Given the description of an element on the screen output the (x, y) to click on. 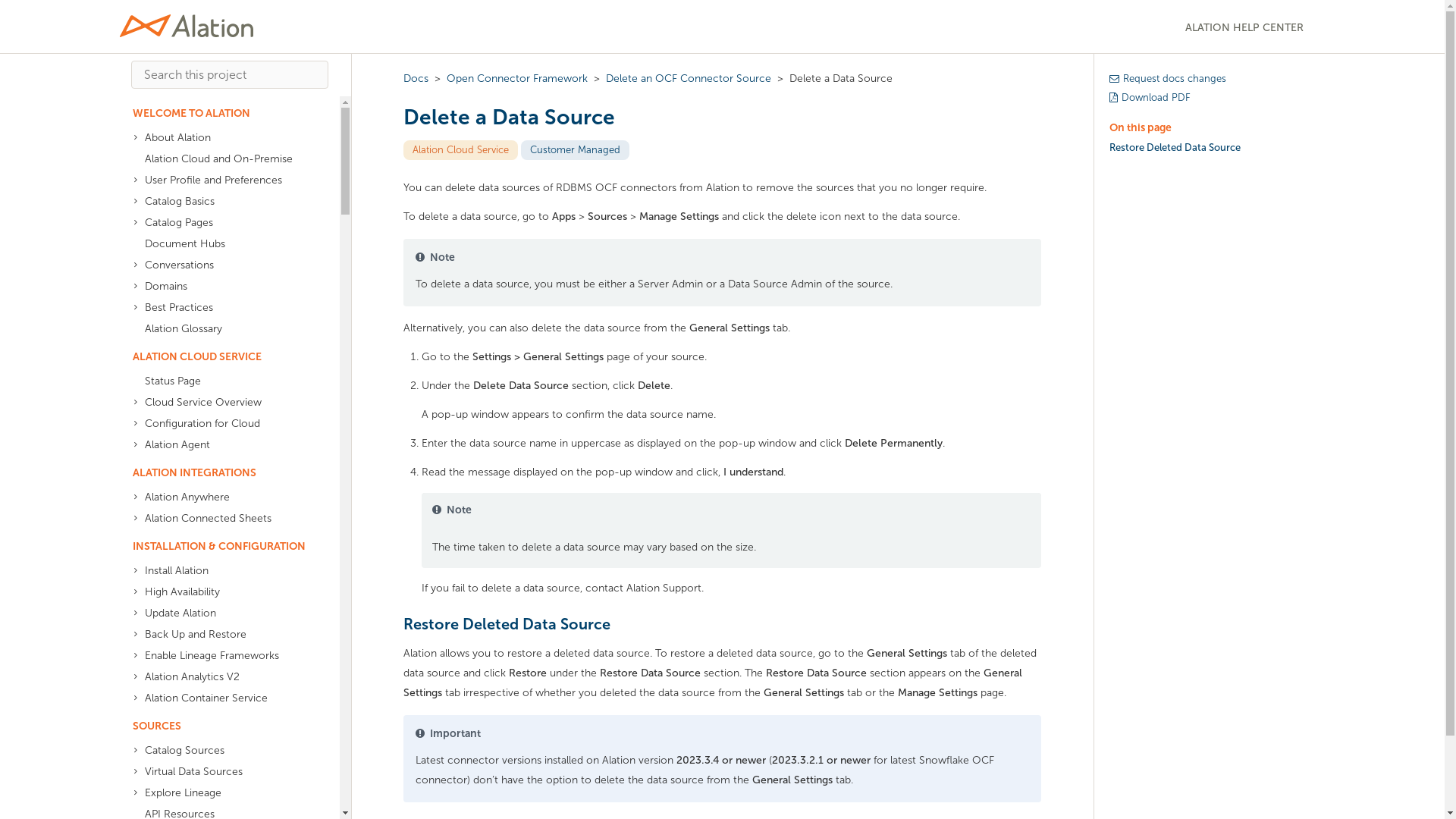
Catalog Pages (223, 222)
ALATION HELP CENTER (1243, 26)
Domains (223, 286)
User Profile and Preferences (223, 179)
Alation Glossary (223, 328)
Alation Cloud and On-Premise (223, 158)
About Alation (223, 137)
Document Hubs (223, 243)
Cloud Service Overview (223, 402)
Best Practices (223, 307)
Conversations (223, 265)
Catalog Basics (223, 201)
Status Page (223, 381)
